Given the description of an element on the screen output the (x, y) to click on. 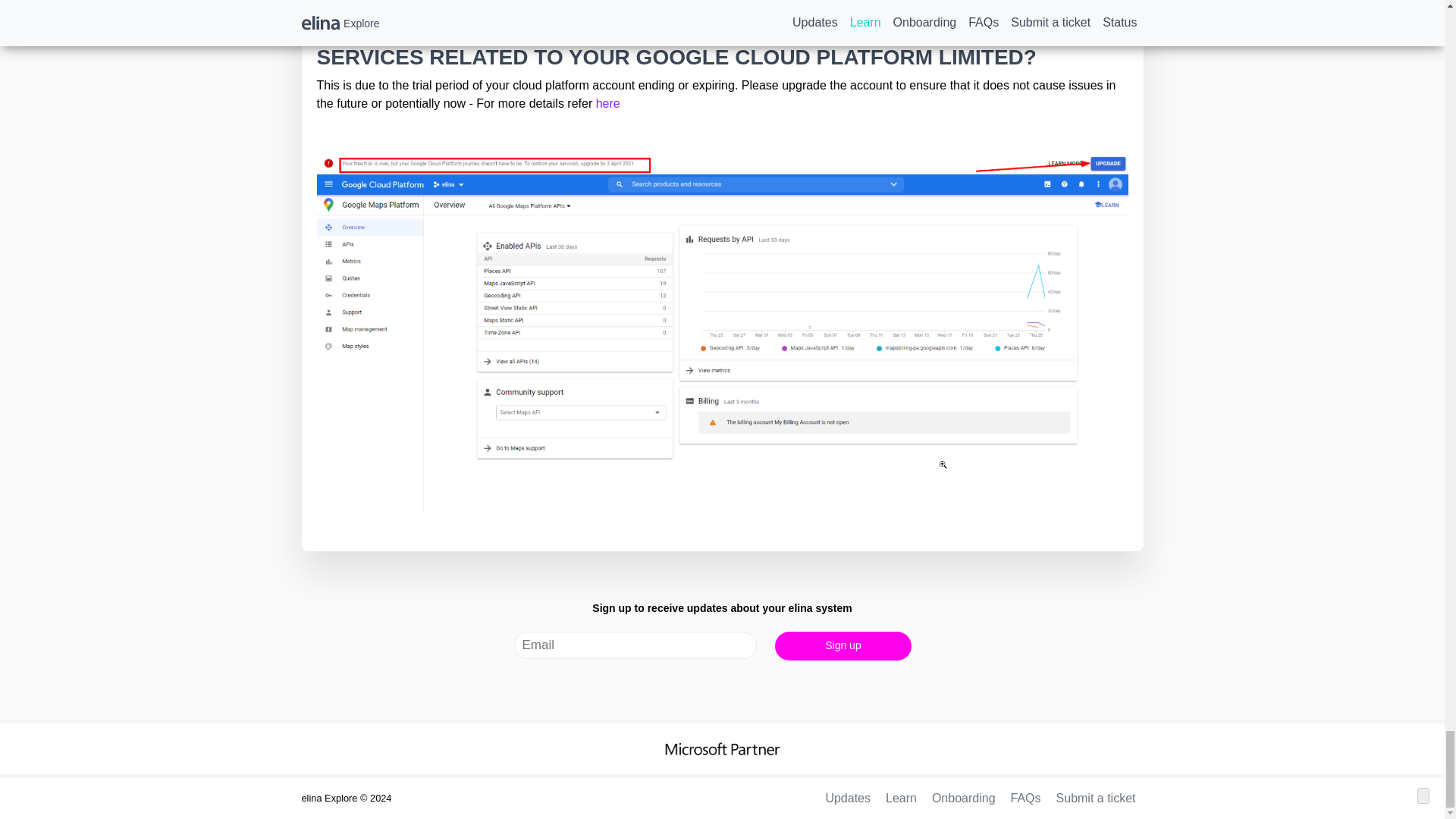
here (607, 103)
Sign up (842, 645)
here (607, 103)
Updates (847, 797)
Learn (901, 797)
Submit a ticket (1096, 797)
FAQs (1025, 797)
Onboarding (963, 797)
